Given the description of an element on the screen output the (x, y) to click on. 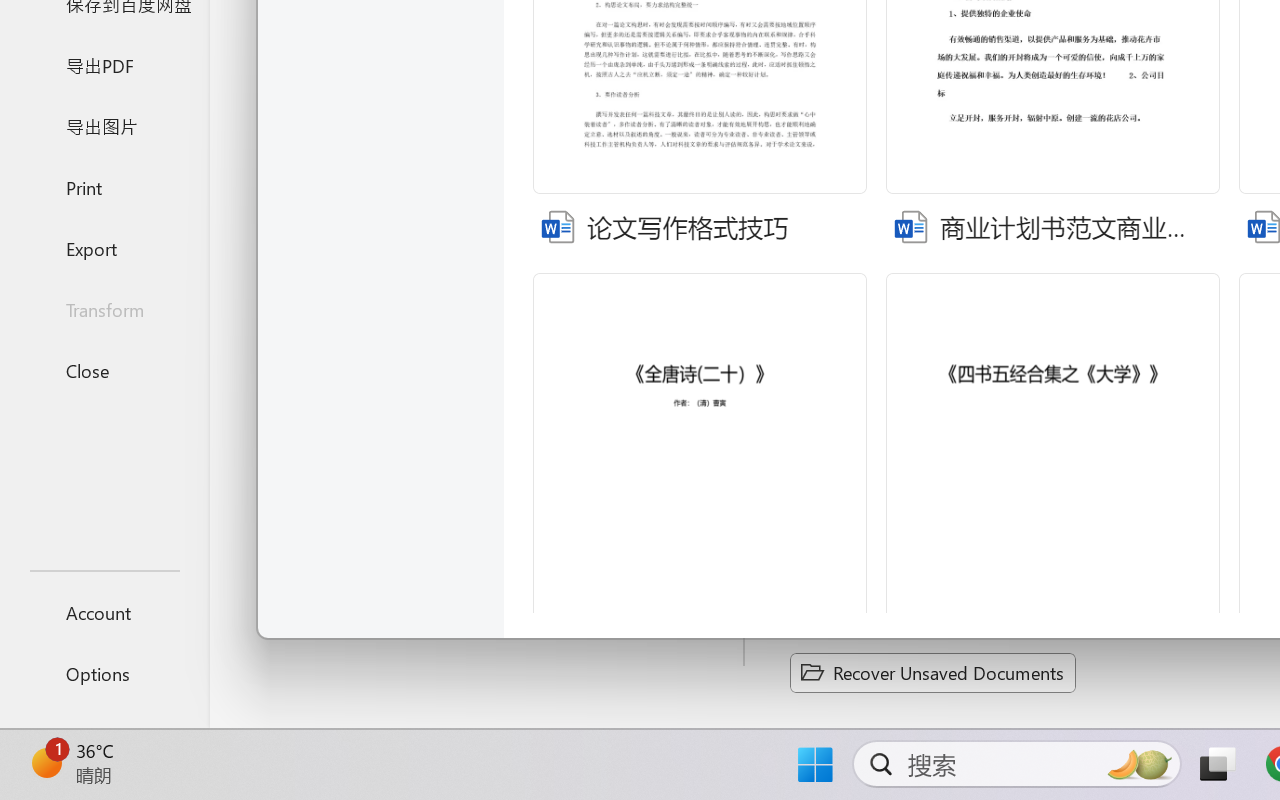
Options (104, 673)
Transform (104, 309)
Class: ___510cvc0 f64fuq3 fjamq6b f11u7vat (910, 224)
Export (104, 248)
Account (104, 612)
